Given the description of an element on the screen output the (x, y) to click on. 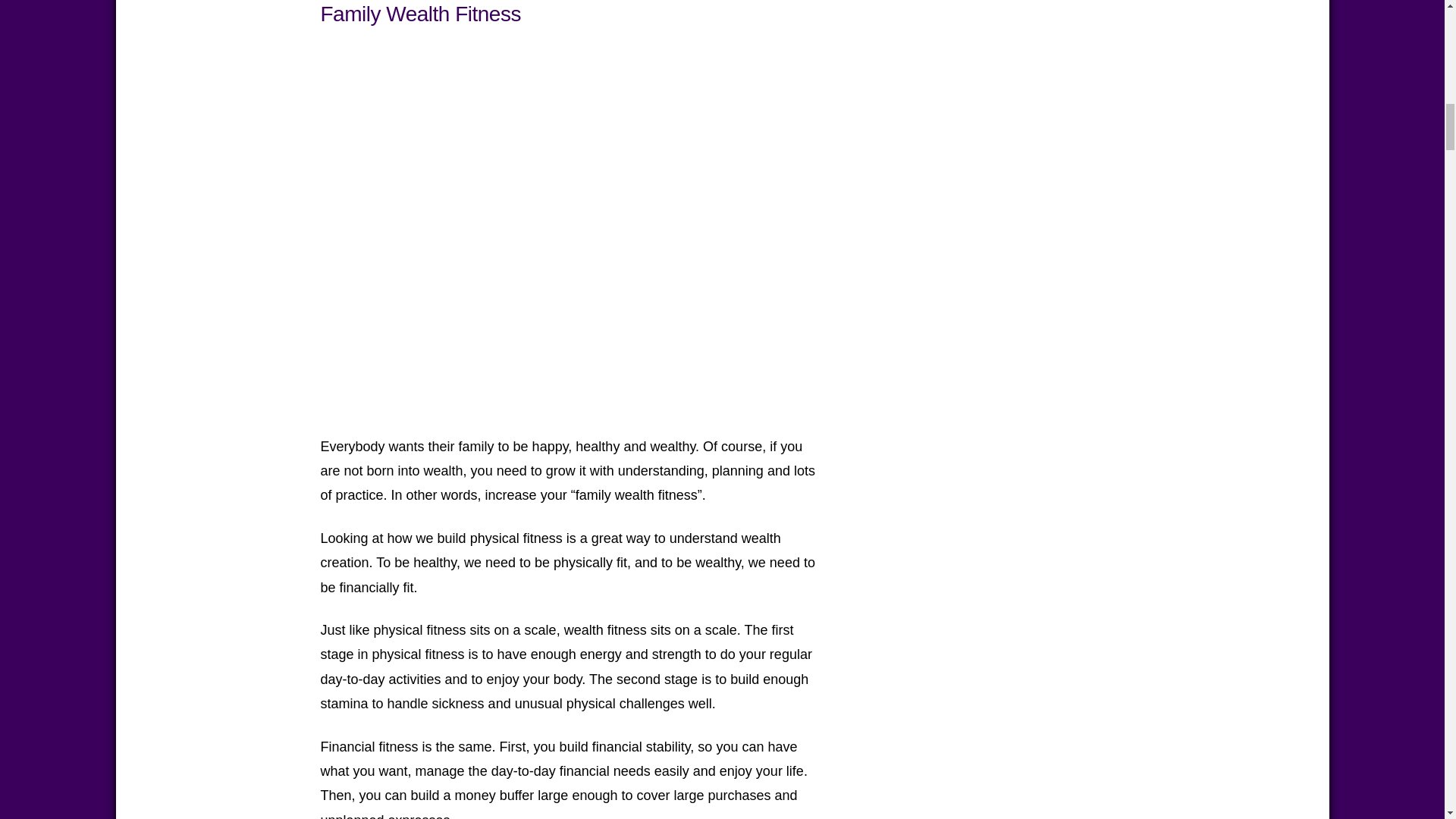
Family Wealth Fitness (419, 13)
